Given the description of an element on the screen output the (x, y) to click on. 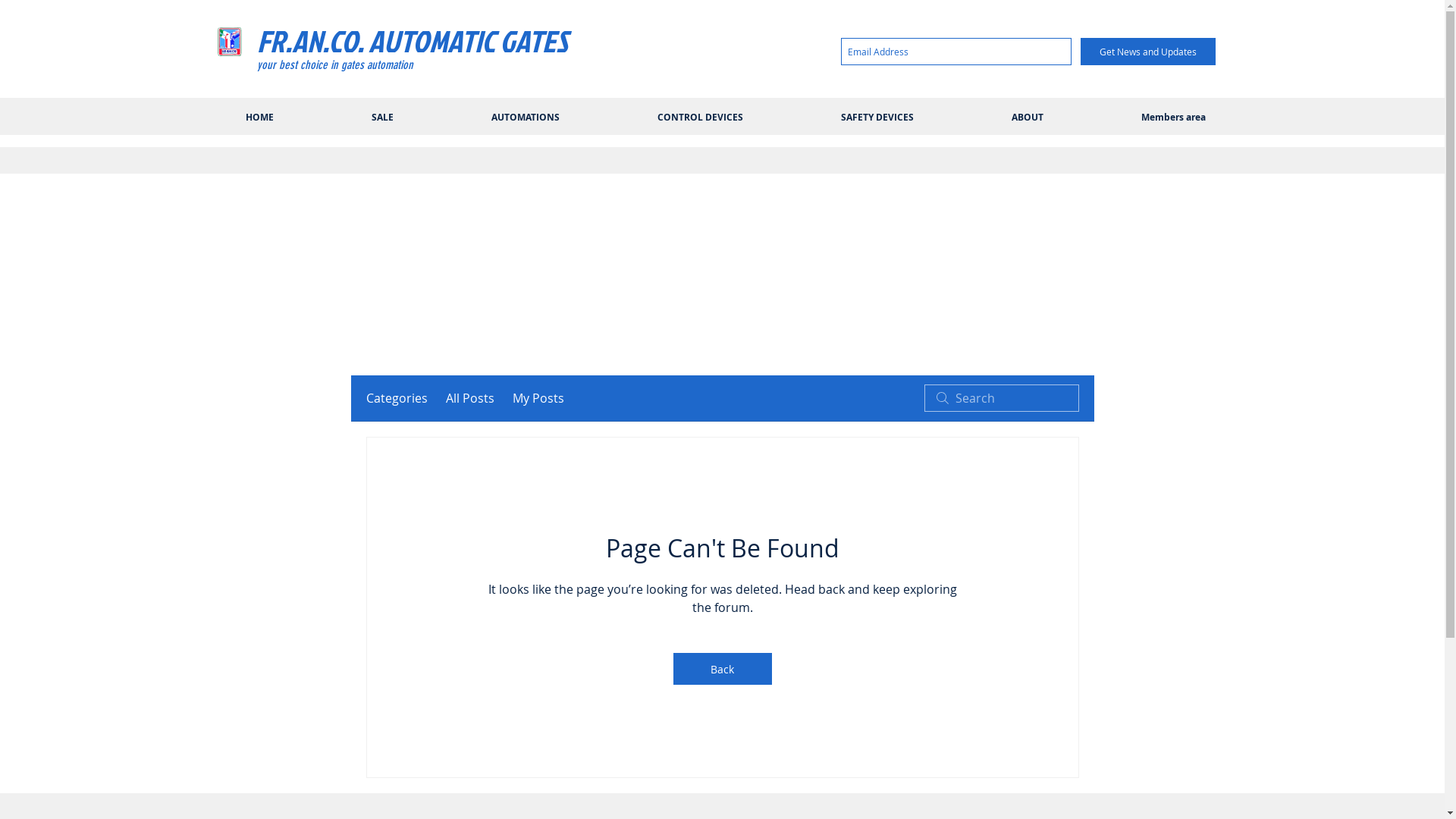
Categories Element type: text (395, 398)
your best choice in gates automation Element type: text (334, 64)
My Posts Element type: text (538, 398)
AUTOMATIONS Element type: text (525, 117)
Members area Element type: text (1173, 117)
Get News and Updates Element type: text (1146, 51)
All Posts Element type: text (469, 398)
SALE Element type: text (382, 117)
Back Element type: text (722, 668)
SAFETY DEVICES Element type: text (876, 117)
CONTROL DEVICES Element type: text (699, 117)
FR.AN.CO. AUTOMATIC GATES Element type: text (411, 40)
HOME Element type: text (258, 117)
ABOUT Element type: text (1027, 117)
